Given the description of an element on the screen output the (x, y) to click on. 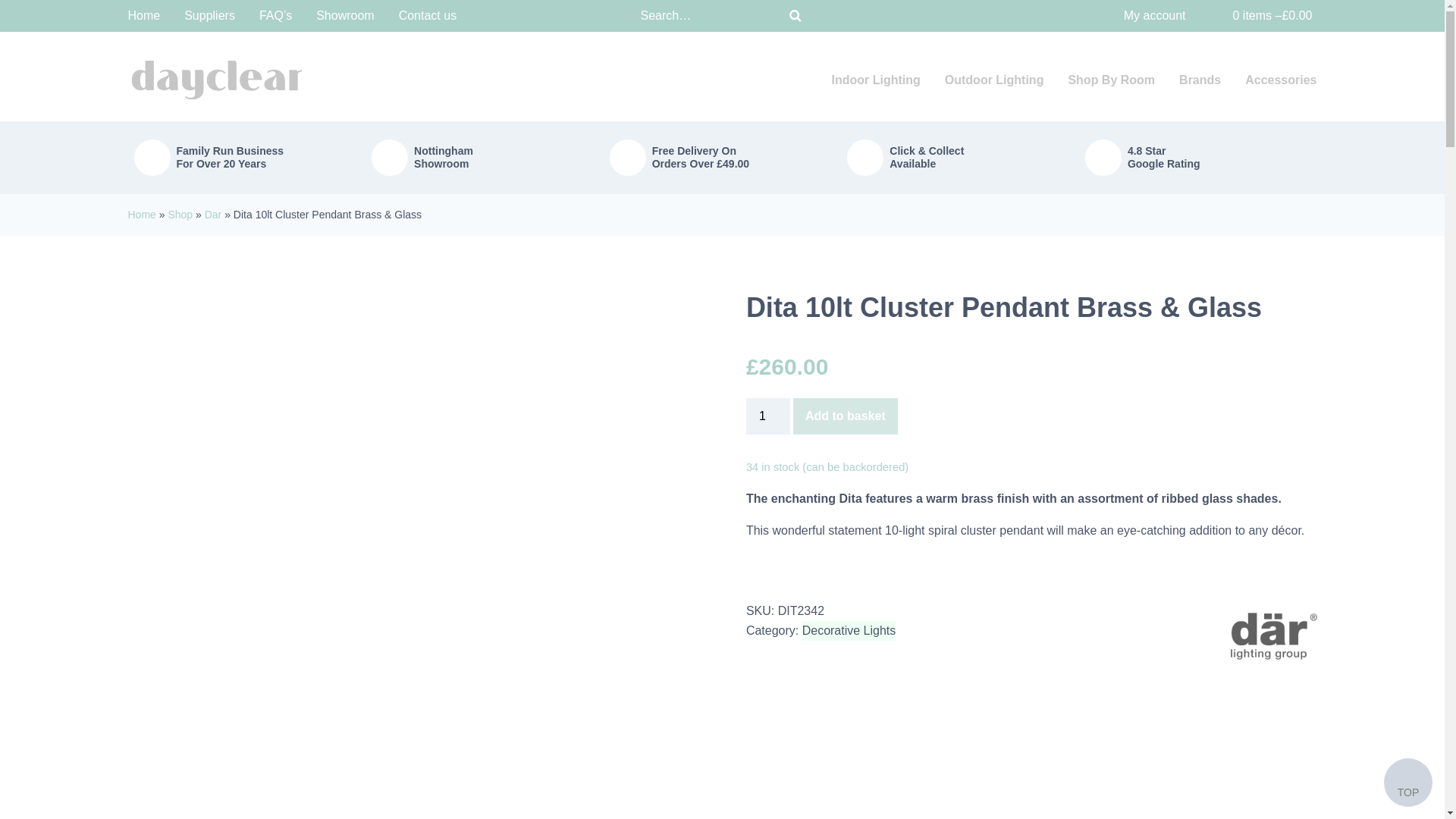
Brands (1200, 80)
Shop By Room (1111, 80)
Accessories (1280, 80)
Showroom (344, 15)
Home (143, 15)
Search for: (706, 15)
View your shopping cart (1263, 15)
1 (767, 415)
Search (795, 15)
Contact us (427, 15)
